Given the description of an element on the screen output the (x, y) to click on. 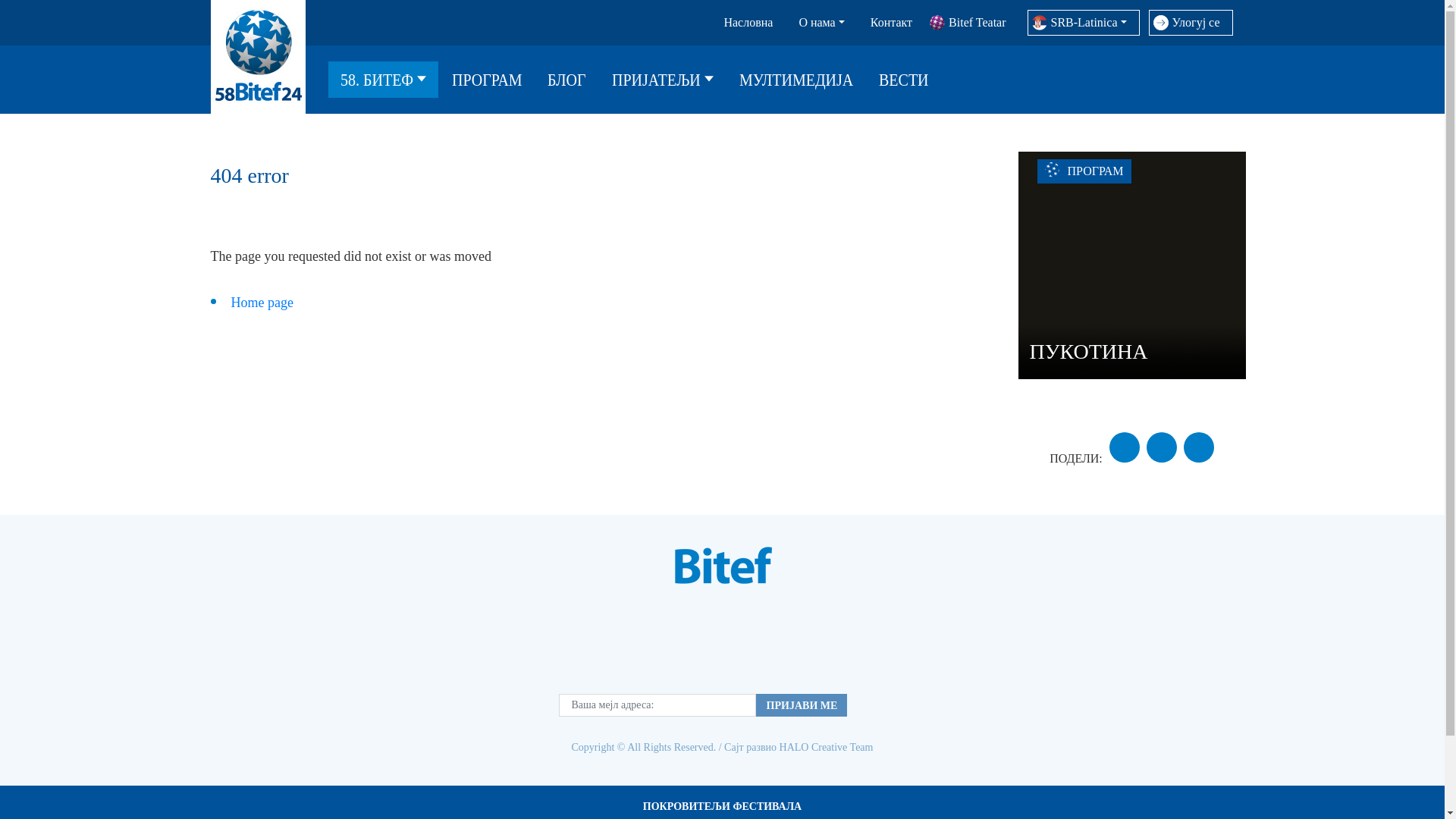
Bitef Teatar (971, 22)
Home page (261, 302)
SRB-Latinica (1083, 22)
Bitef Teatar (971, 22)
SRB-Latinica (1083, 22)
